Given the description of an element on the screen output the (x, y) to click on. 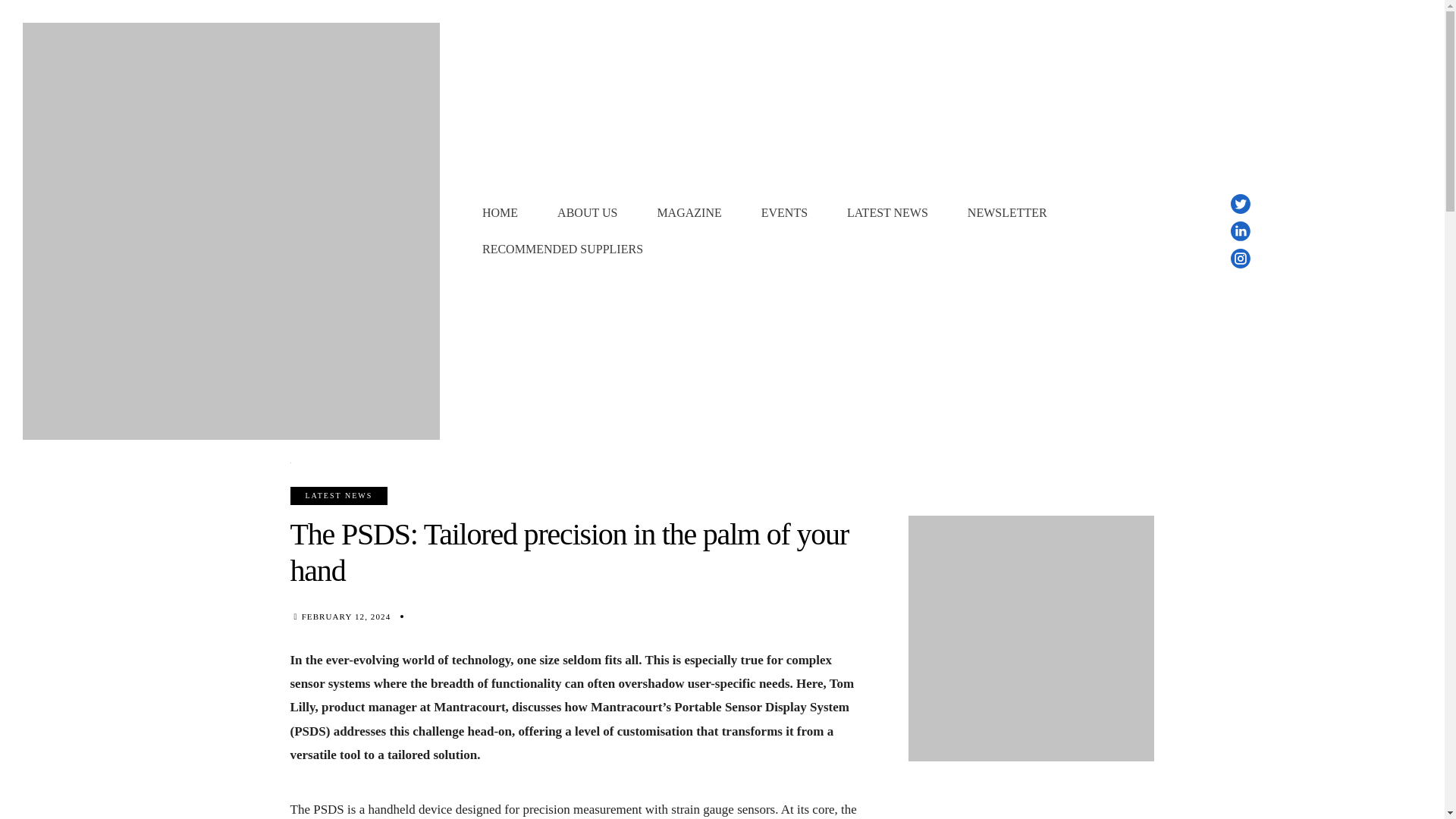
ABOUT US (587, 212)
Linkedin (1240, 230)
Twitter (1240, 203)
EVENTS (784, 212)
HOME (500, 212)
Instagram (1240, 258)
MAGAZINE (689, 212)
LATEST NEWS (887, 212)
